Given the description of an element on the screen output the (x, y) to click on. 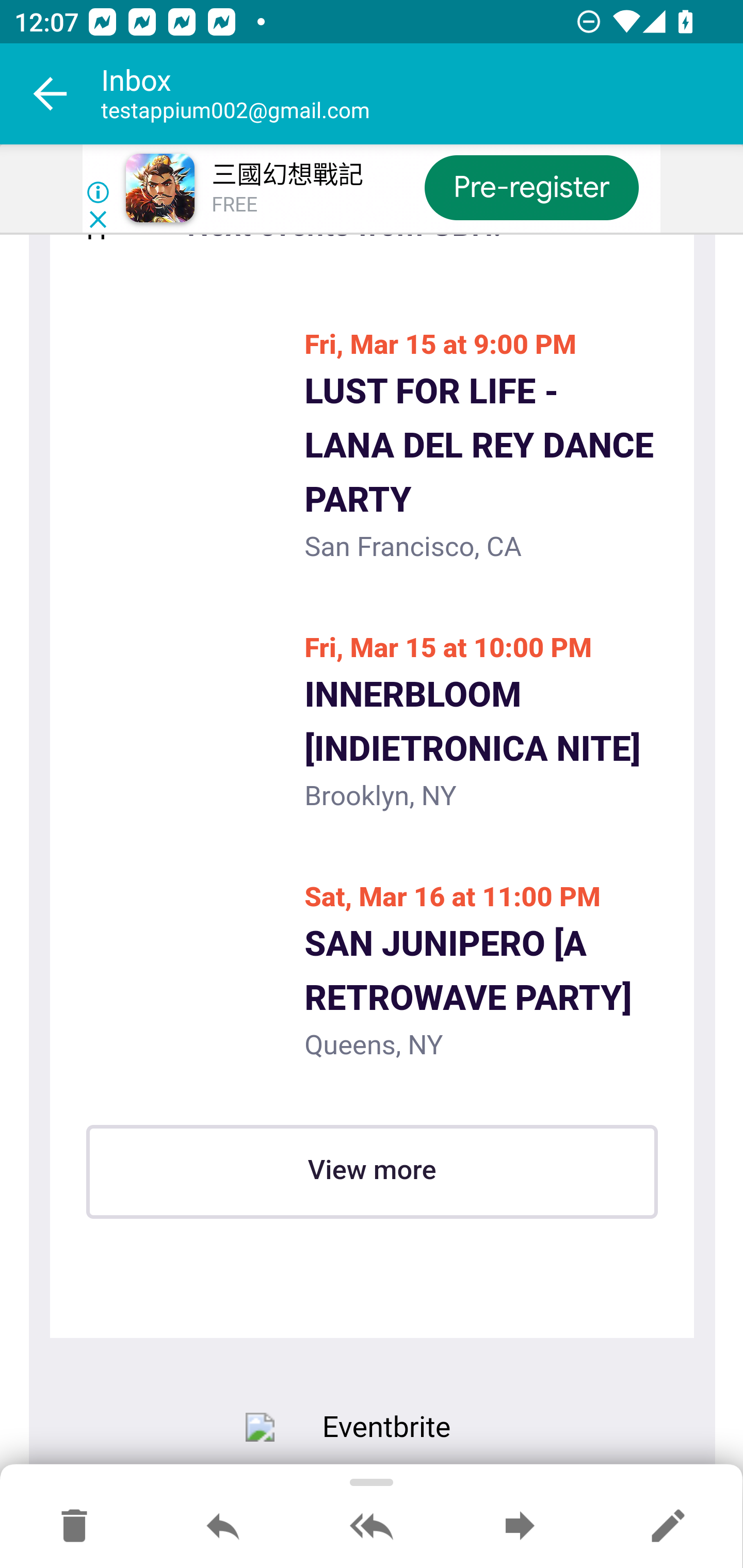
Navigate up (50, 93)
Inbox testappium002@gmail.com (422, 93)
Pre-register (530, 187)
三國幻想戰記 (287, 175)
View more (371, 1171)
Move to Deleted (74, 1527)
Reply (222, 1527)
Reply all (371, 1527)
Forward (519, 1527)
Reply as new (667, 1527)
